Given the description of an element on the screen output the (x, y) to click on. 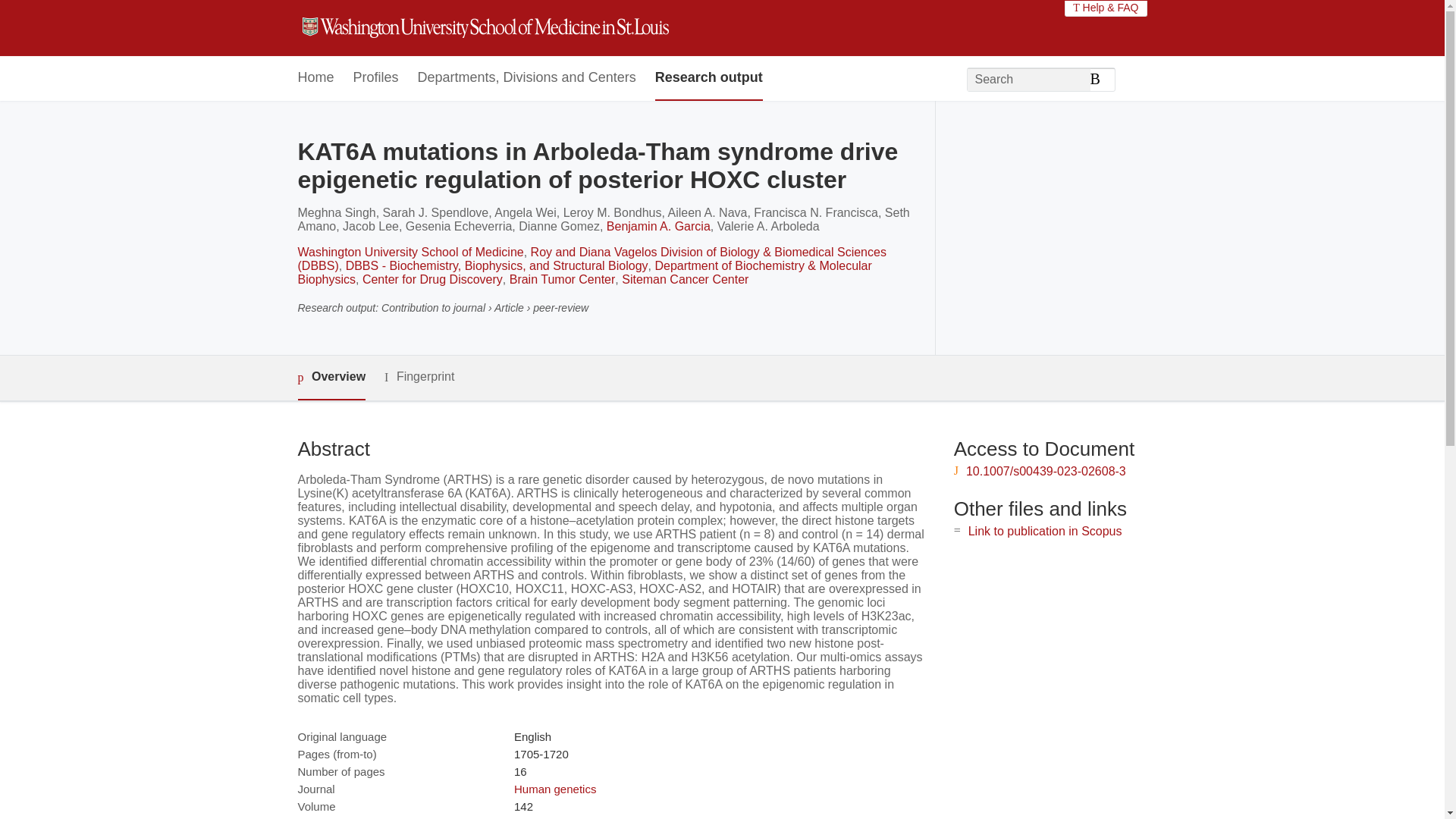
Research output (708, 78)
Human genetics (554, 788)
Siteman Cancer Center (684, 278)
Center for Drug Discovery (432, 278)
Link to publication in Scopus (1045, 530)
Departments, Divisions and Centers (526, 78)
Profiles (375, 78)
Benjamin A. Garcia (658, 226)
Washington University School of Medicine (409, 251)
